Given the description of an element on the screen output the (x, y) to click on. 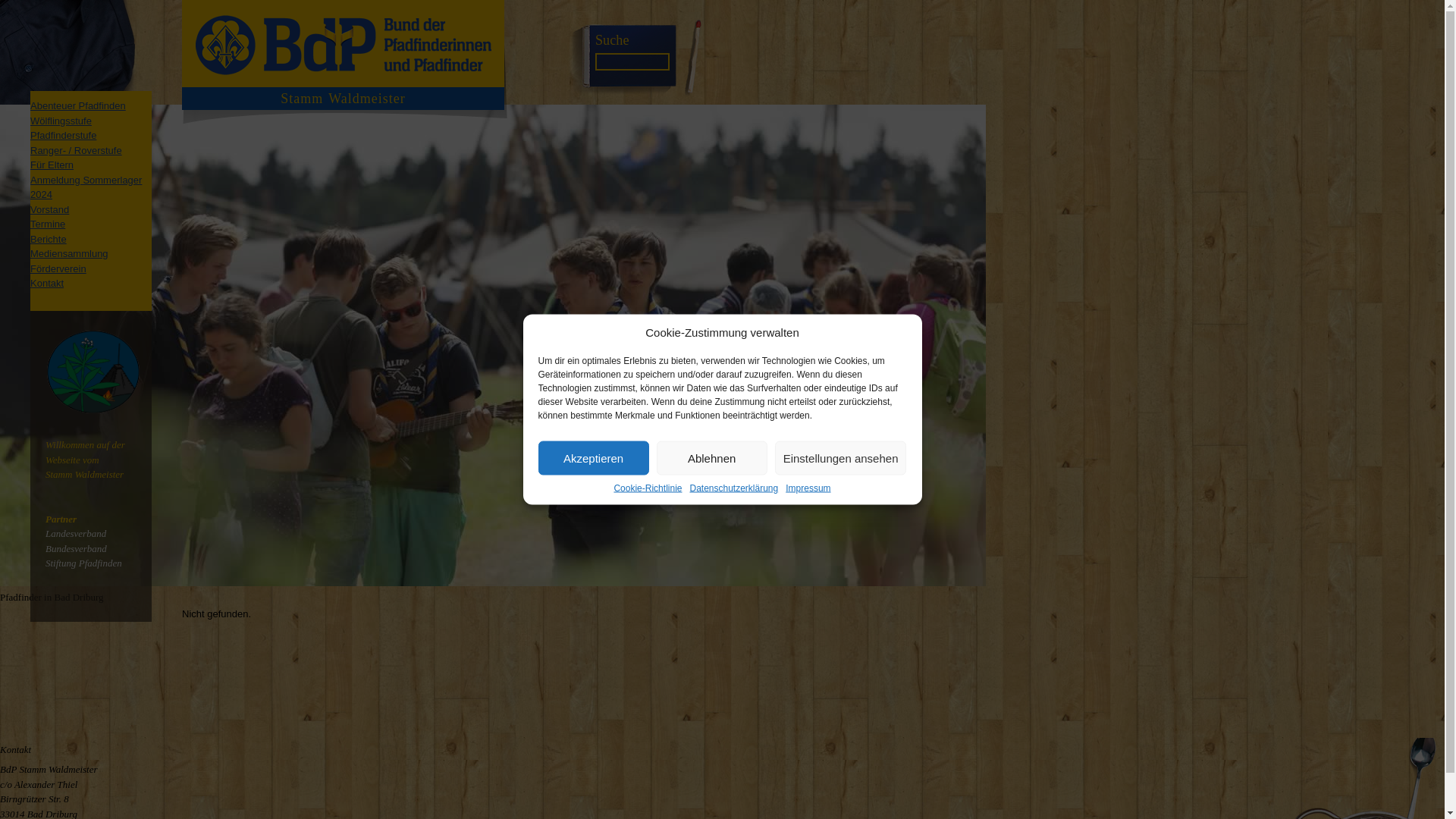
Ablehnen (711, 458)
Abenteuer Pfadfinden (77, 105)
Query search (611, 39)
Impressum (807, 487)
Termine (47, 224)
Einstellungen ansehen (840, 458)
Landesverband (75, 532)
Pfadfinderstufe (63, 134)
Cookie-Richtlinie (646, 487)
Mediensammlung (68, 253)
Kontakt (47, 283)
Berichte (48, 238)
Suche nach: (632, 61)
Suche (611, 39)
Bundesverband (75, 548)
